Given the description of an element on the screen output the (x, y) to click on. 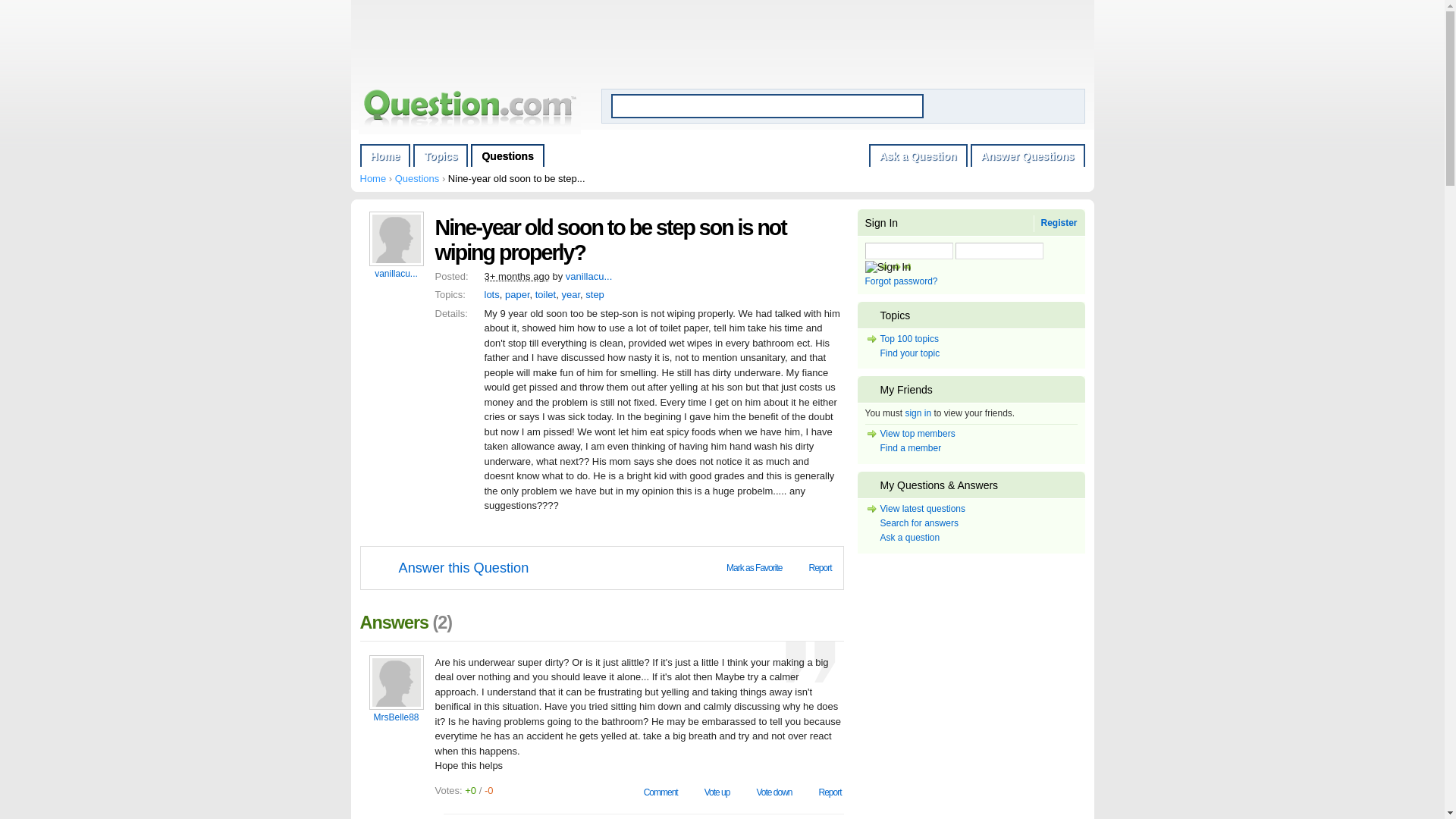
Answer this Question (449, 567)
toilet (545, 294)
Ask a Question (918, 155)
paper (517, 294)
Report (822, 791)
Add a comment to this answer (653, 791)
step (594, 294)
24 April 2010 7:23pm (515, 275)
Vote up (709, 791)
Home (384, 155)
